Given the description of an element on the screen output the (x, y) to click on. 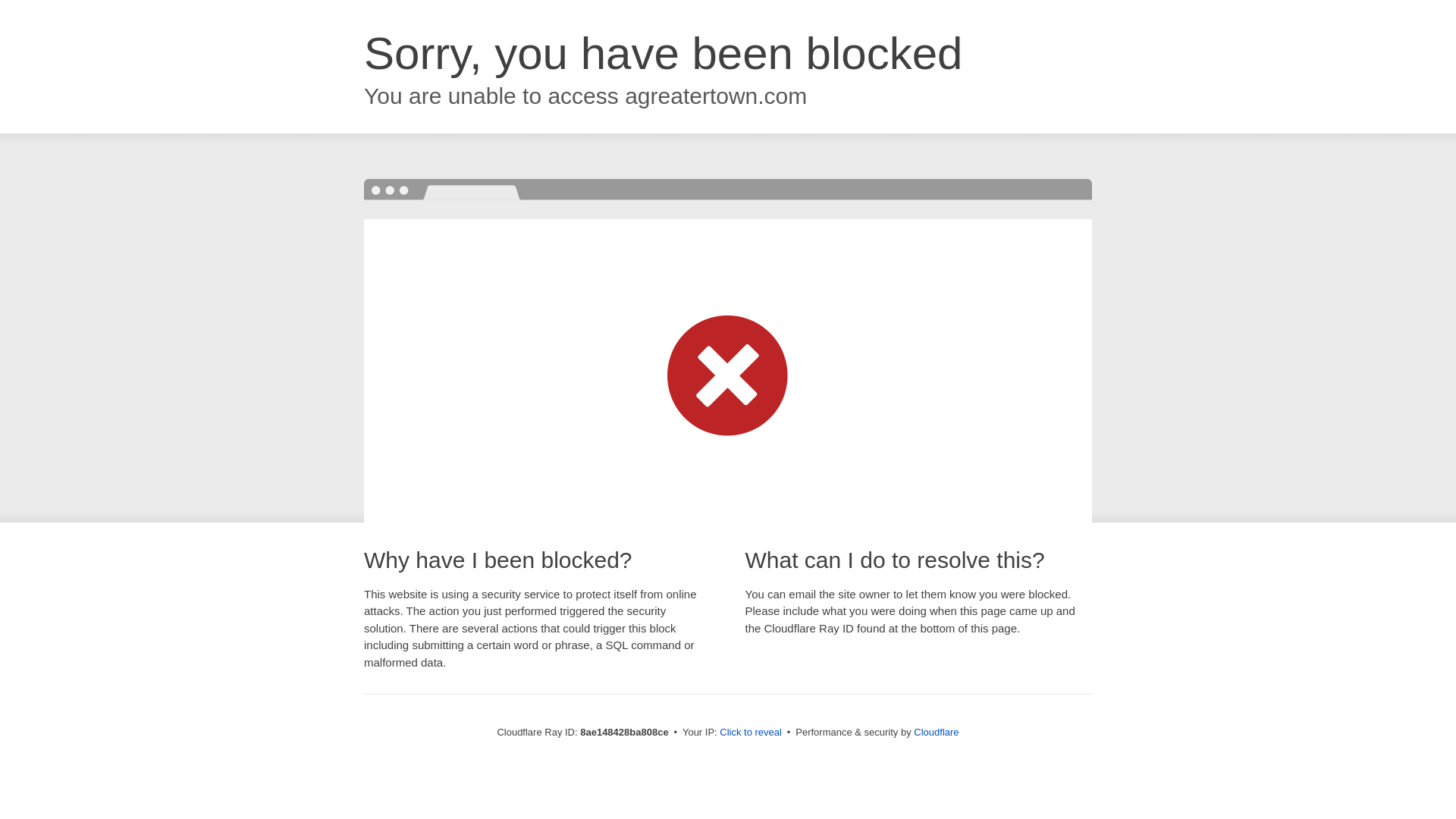
Cloudflare (936, 731)
Click to reveal (750, 732)
